Given the description of an element on the screen output the (x, y) to click on. 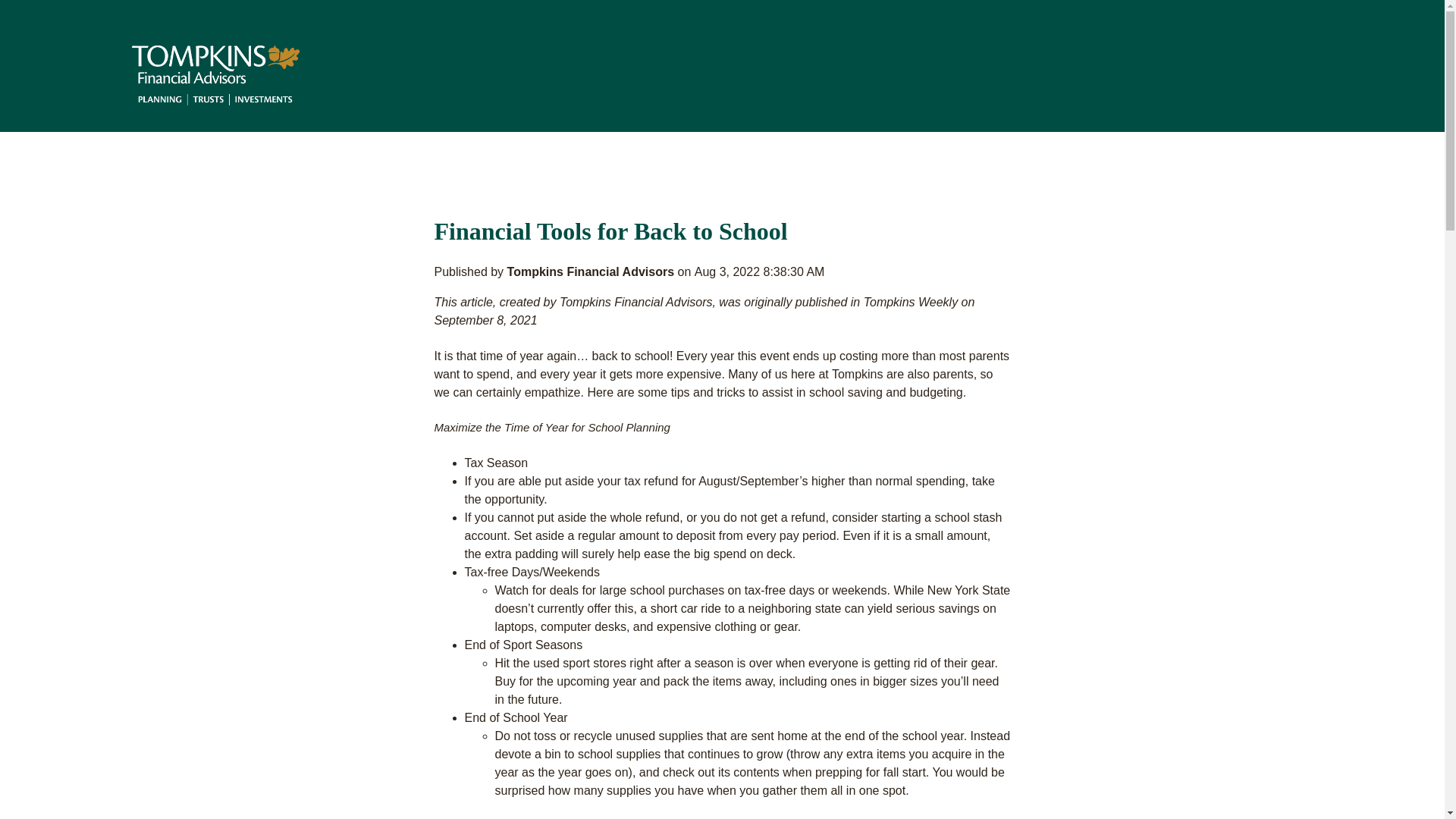
Tompkins Financial Advisors (215, 75)
Tompkins Financial Advisors (592, 271)
